Given the description of an element on the screen output the (x, y) to click on. 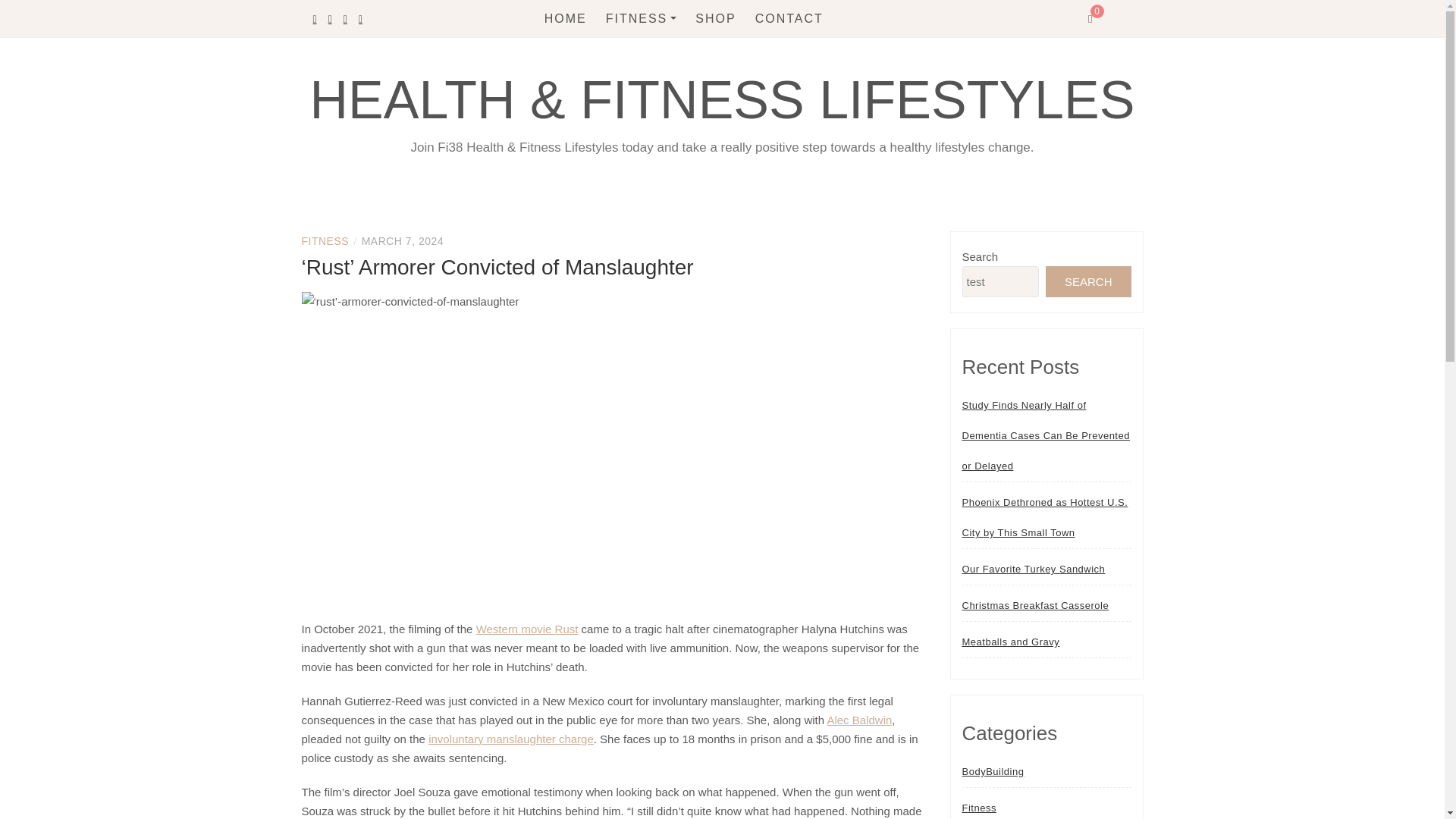
Western movie Rust (527, 628)
SEARCH (1088, 281)
involuntary manslaughter charge (511, 738)
HOME (565, 18)
SHOP (715, 18)
Meatballs and Gravy (1009, 642)
FITNESS (325, 241)
Christmas Breakfast Casserole (1034, 605)
FITNESS FOODS (689, 115)
HEALTH (689, 52)
FITNESS NEWS (689, 83)
Alec Baldwin (859, 719)
CONTACT (789, 18)
Phoenix Dethroned as Hottest U.S. City by This Small Town (1045, 517)
